Given the description of an element on the screen output the (x, y) to click on. 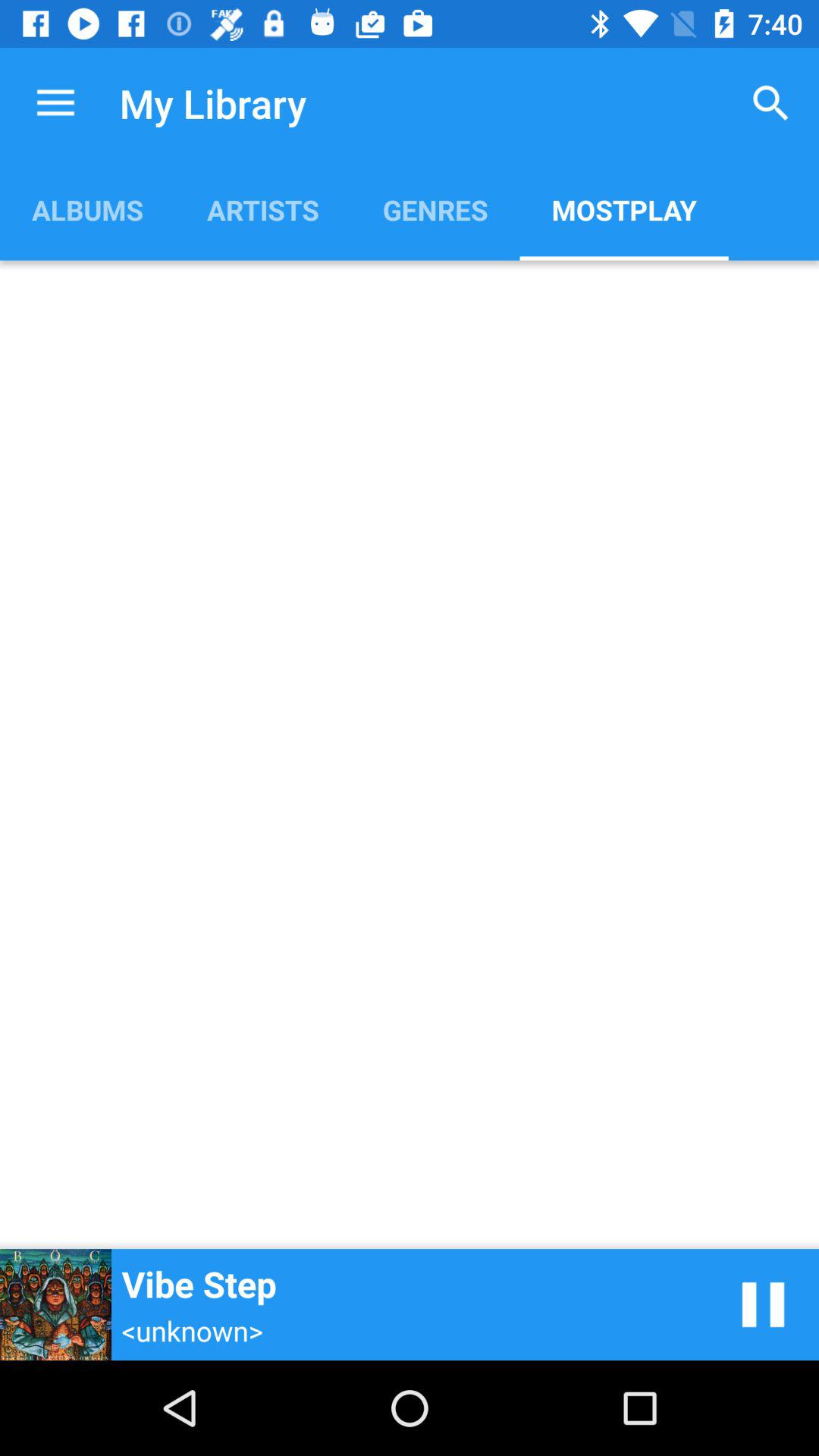
turn off the icon next to genres item (623, 209)
